Given the description of an element on the screen output the (x, y) to click on. 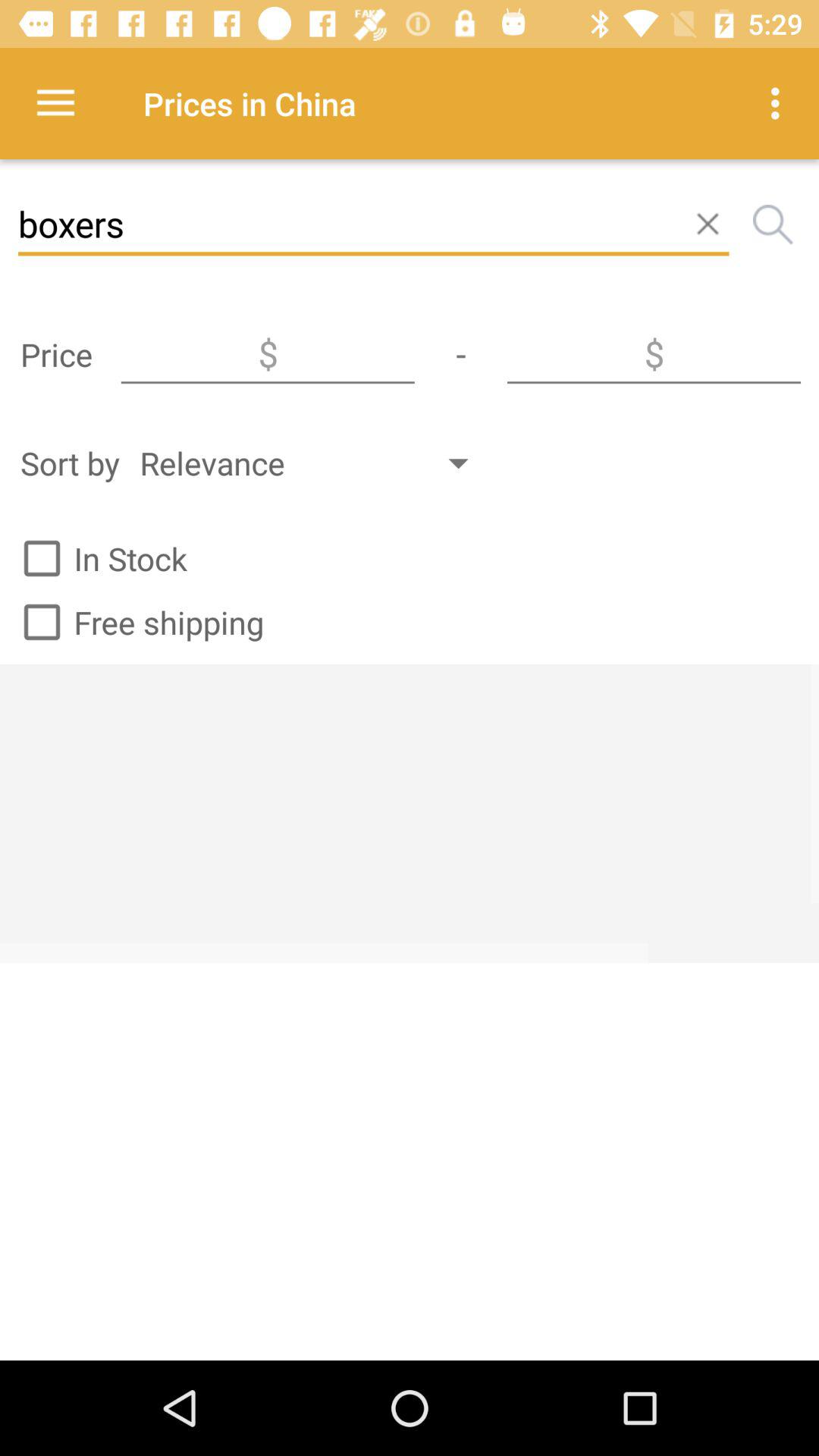
sort by price (267, 354)
